Given the description of an element on the screen output the (x, y) to click on. 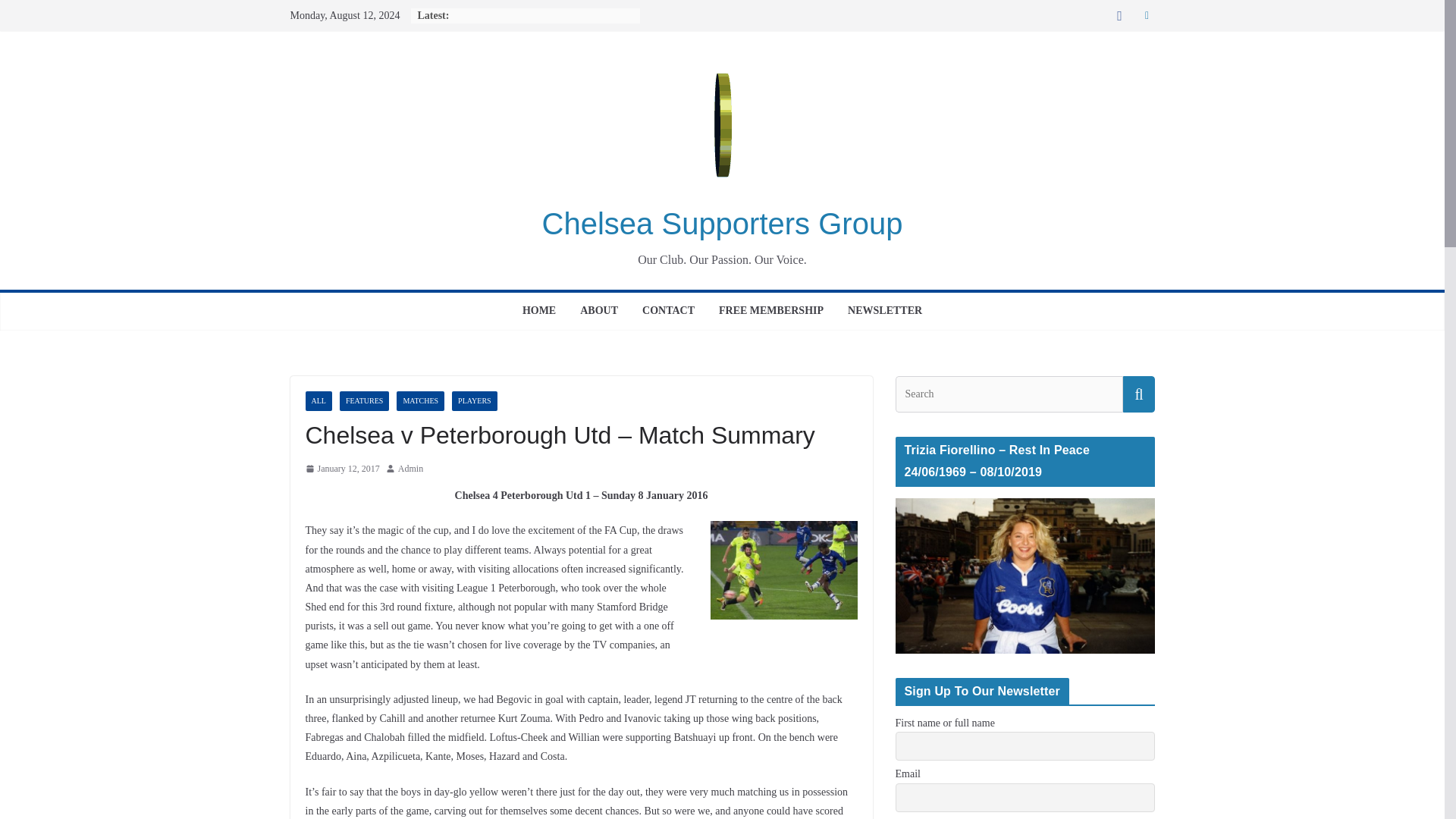
2:04 pm (341, 469)
PLAYERS (474, 401)
FEATURES (363, 401)
MATCHES (420, 401)
CONTACT (668, 311)
Chelsea Supporters Group (721, 223)
Admin (410, 469)
ALL (317, 401)
HOME (539, 311)
Chelsea Supporters Group (721, 223)
